Given the description of an element on the screen output the (x, y) to click on. 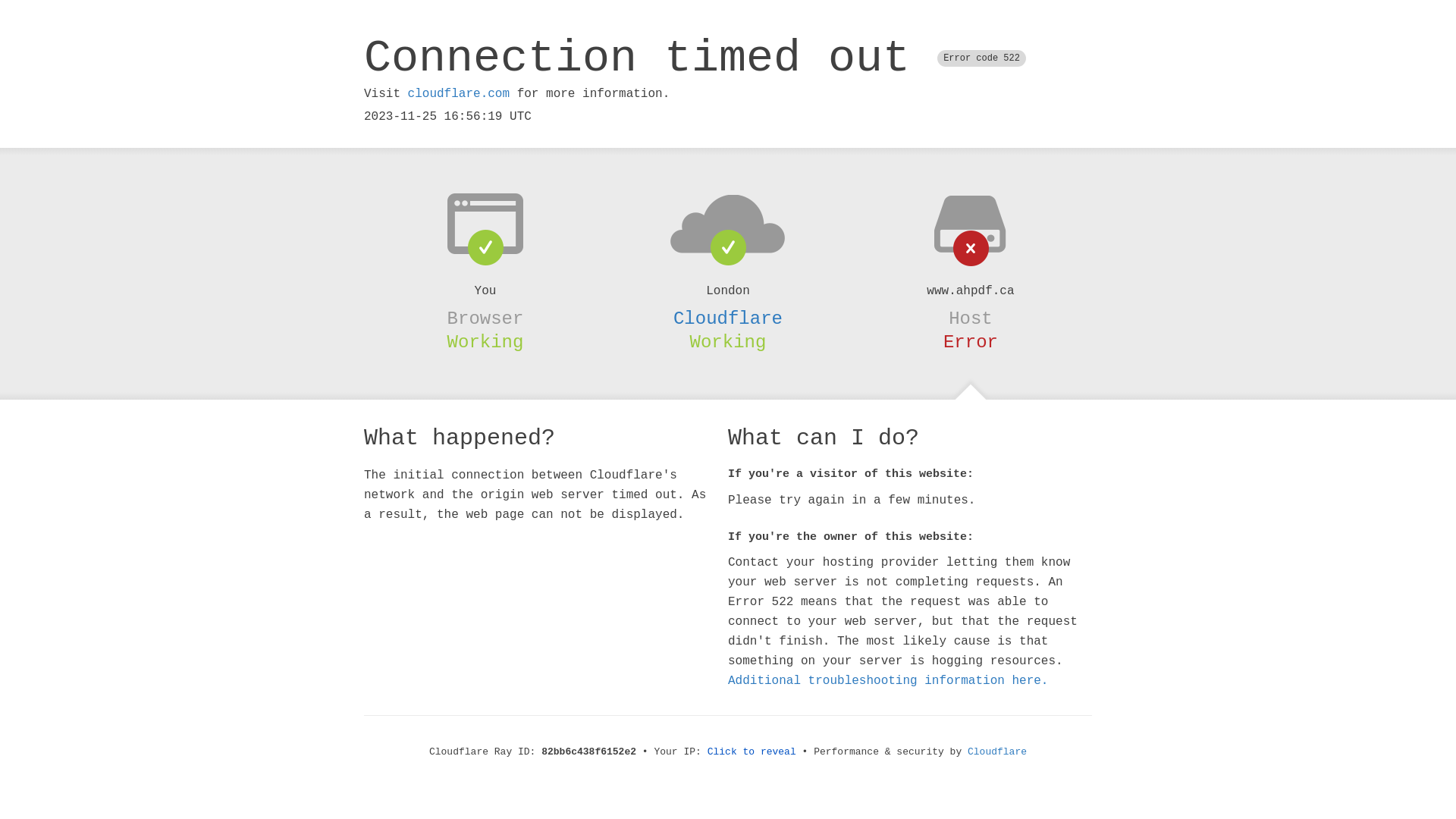
cloudflare.com Element type: text (458, 93)
Cloudflare Element type: text (996, 751)
Click to reveal Element type: text (751, 751)
Additional troubleshooting information here. Element type: text (888, 680)
Cloudflare Element type: text (727, 318)
